Given the description of an element on the screen output the (x, y) to click on. 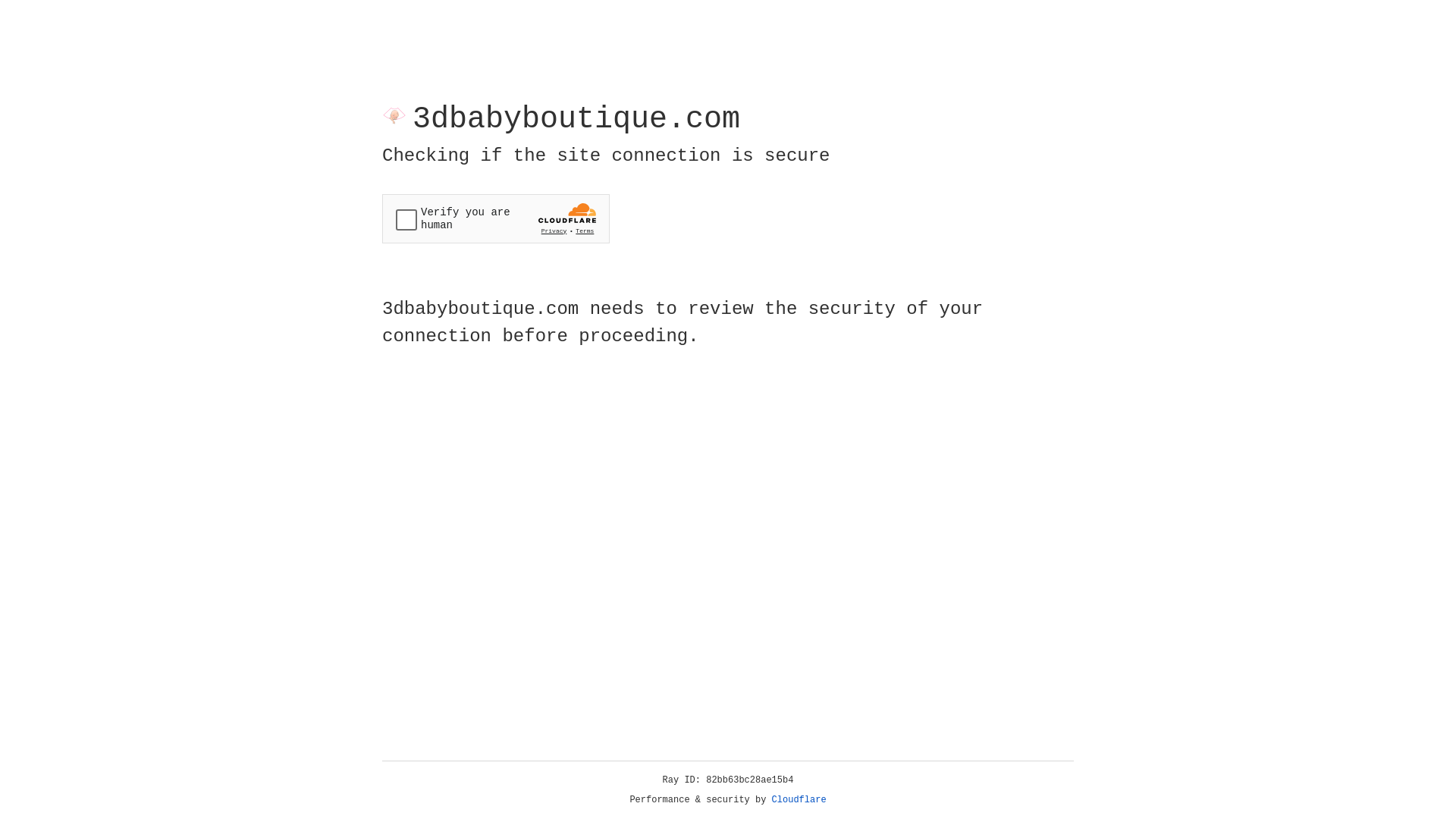
Widget containing a Cloudflare security challenge Element type: hover (495, 218)
Cloudflare Element type: text (798, 799)
